Given the description of an element on the screen output the (x, y) to click on. 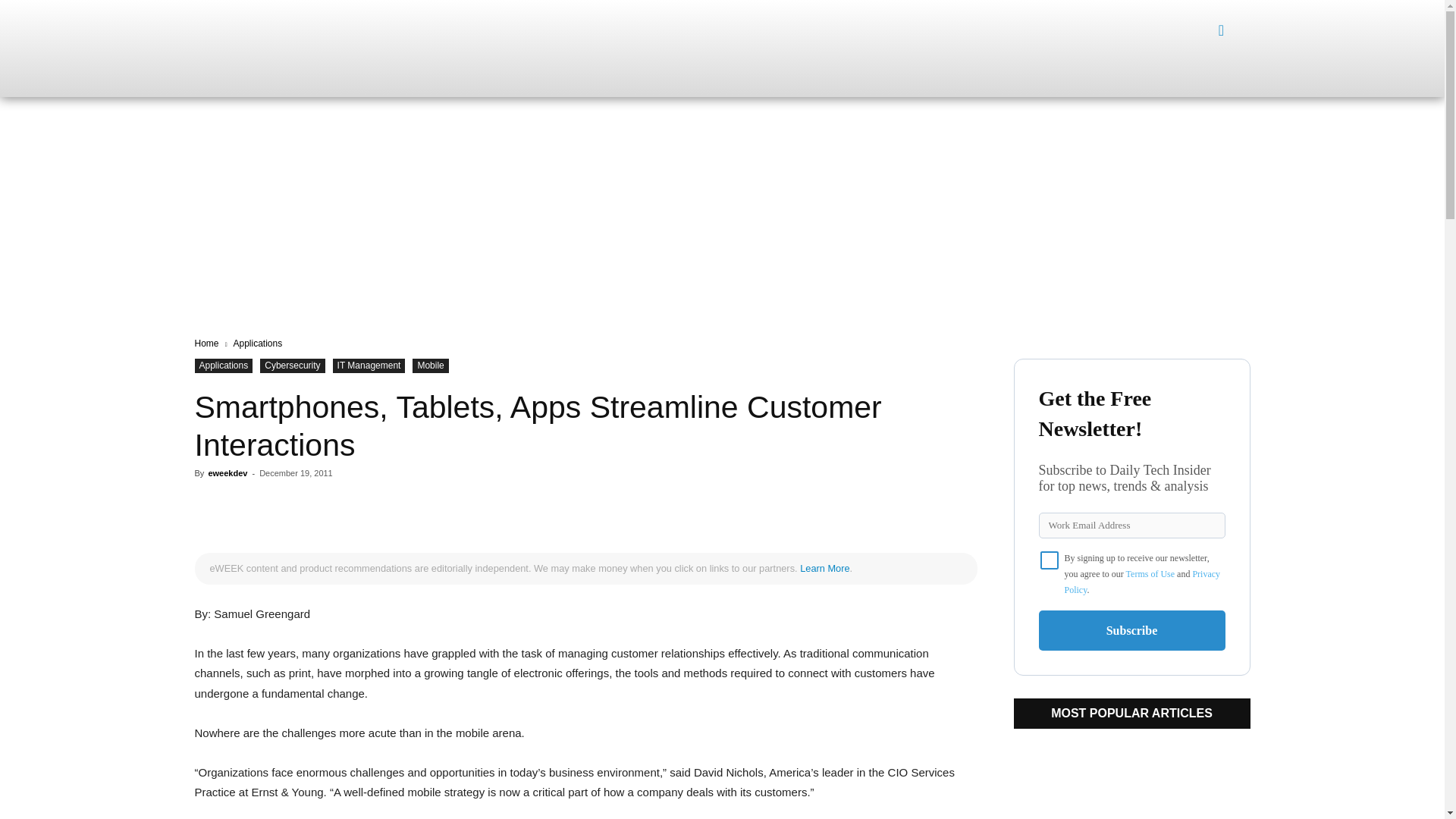
on (1049, 560)
